Given the description of an element on the screen output the (x, y) to click on. 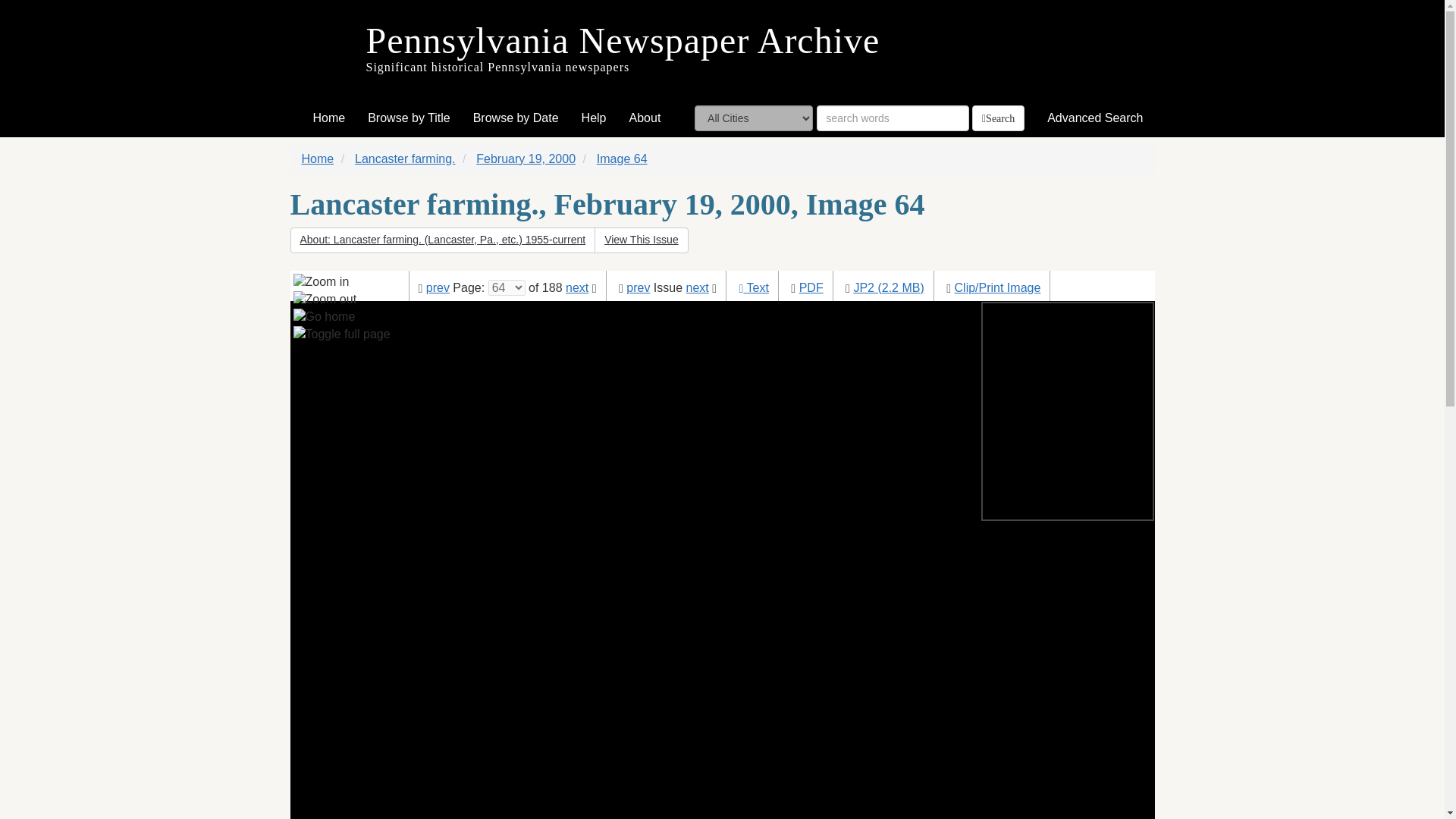
Toggle full page (341, 334)
Zoom out (324, 299)
Help (593, 118)
next (577, 287)
prev (637, 287)
prev (437, 287)
Browse by Date (515, 118)
Home (317, 158)
Lancaster farming. (405, 158)
February 19, 2000 (525, 158)
